Given the description of an element on the screen output the (x, y) to click on. 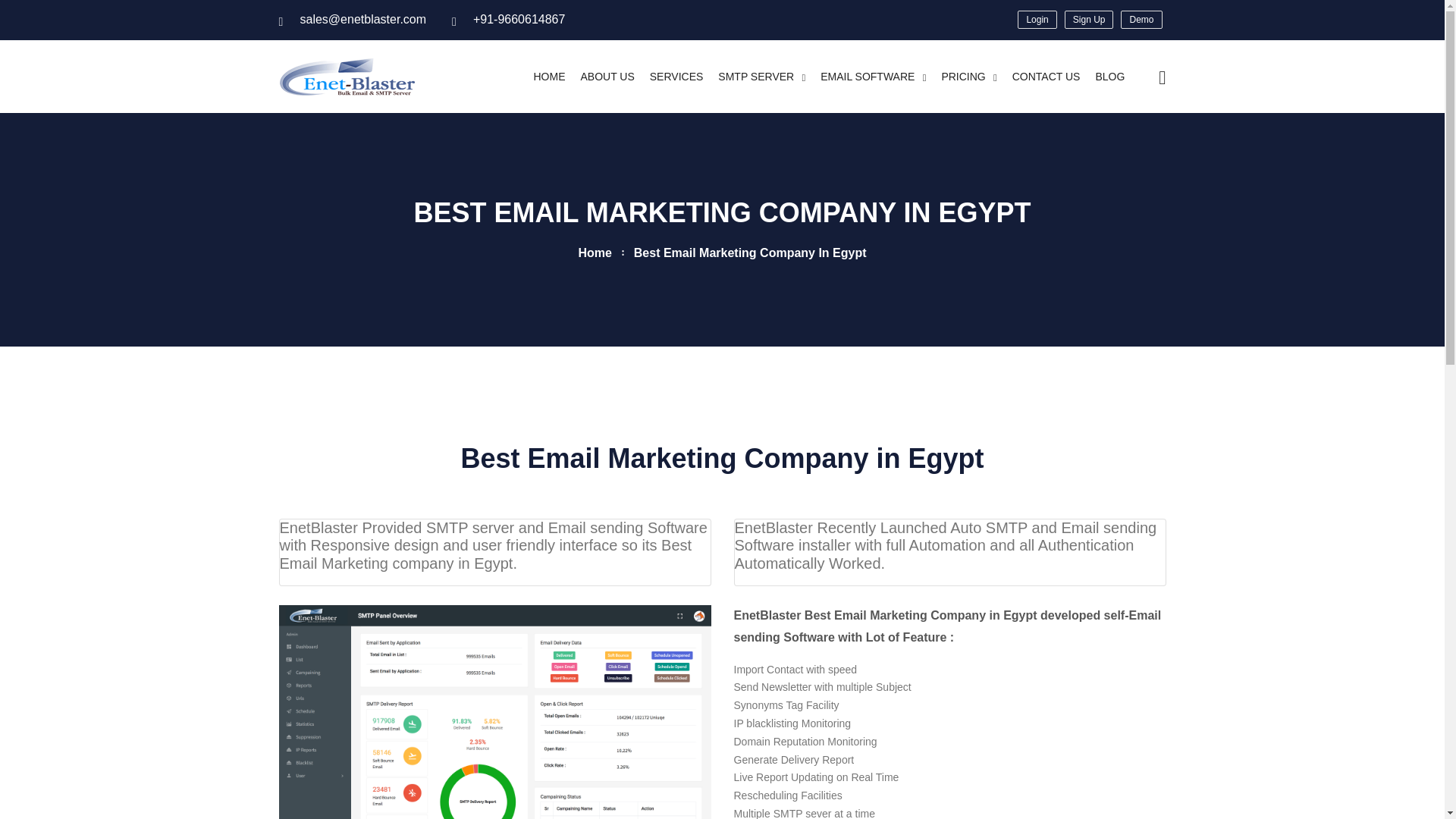
Home (594, 252)
EMAIL SOFTWARE (873, 76)
SMTP SERVER (761, 76)
Login (1037, 19)
Demo (1141, 19)
Sign Up (1088, 19)
Enetblaster logo (346, 76)
CONTACT US (1045, 76)
